Given the description of an element on the screen output the (x, y) to click on. 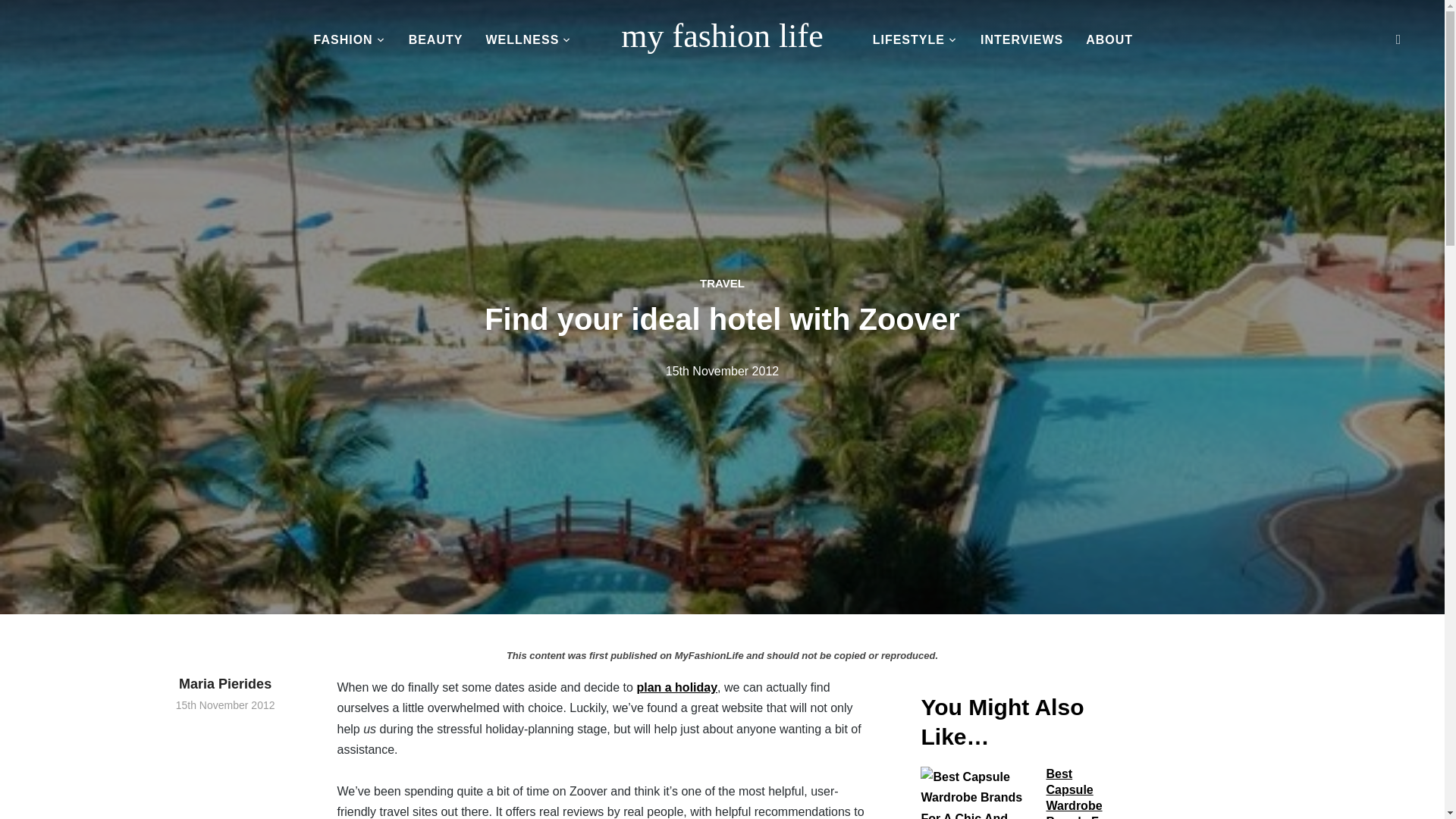
my fashion life (721, 35)
Fashion, Celebrities, Beauty, Food, Travel, Lifestyle (721, 35)
LIFESTYLE (915, 40)
WELLNESS (528, 40)
Posts by Maria Pierides (225, 684)
BEAUTY (436, 40)
FASHION (349, 40)
